Given the description of an element on the screen output the (x, y) to click on. 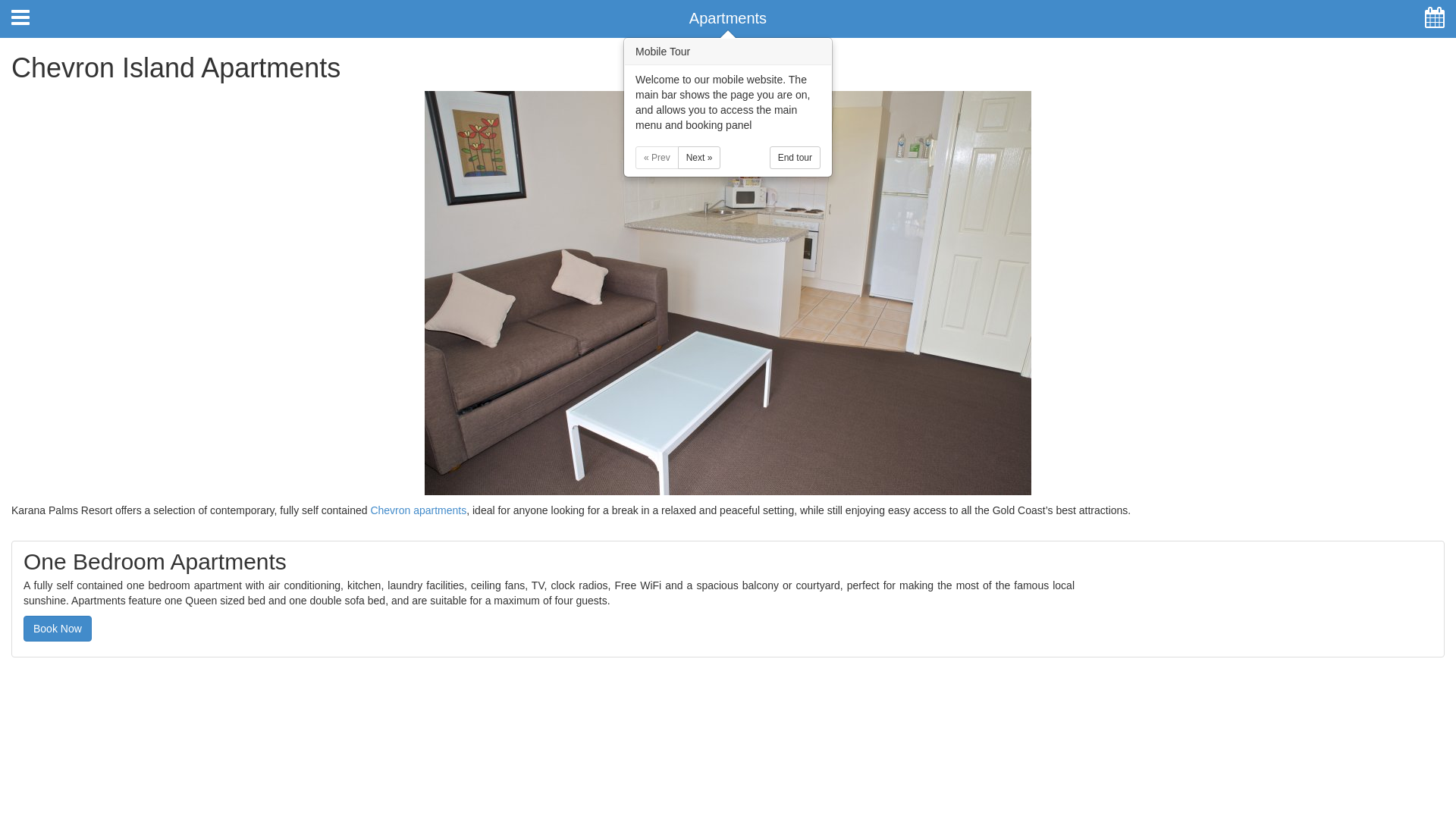
End tour Element type: text (794, 157)
Chevron apartments Element type: text (418, 510)
Book Now Element type: text (57, 628)
Submit Element type: text (201, 156)
Book Now Element type: text (1341, 166)
